Given the description of an element on the screen output the (x, y) to click on. 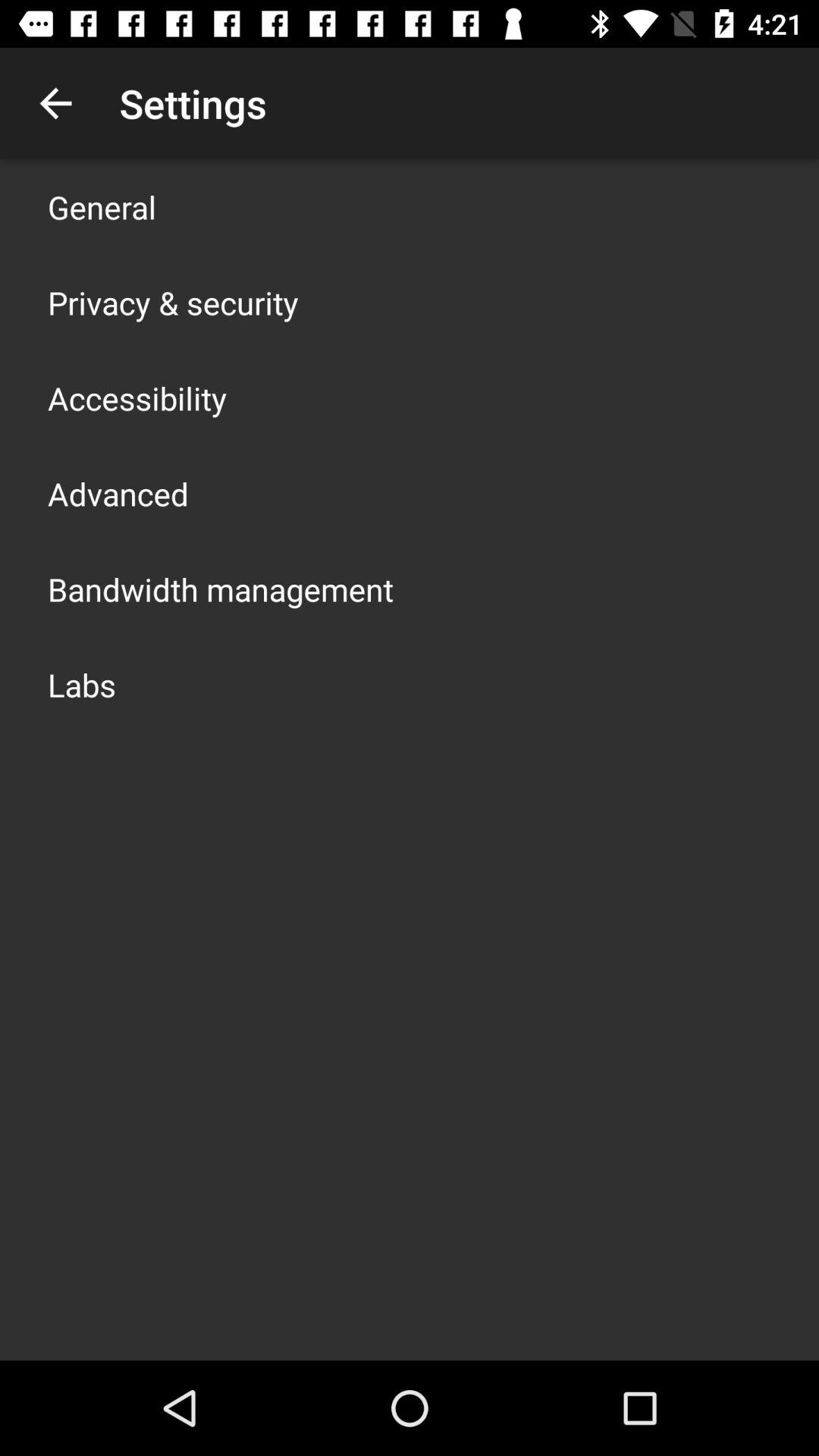
swipe to advanced icon (117, 493)
